Given the description of an element on the screen output the (x, y) to click on. 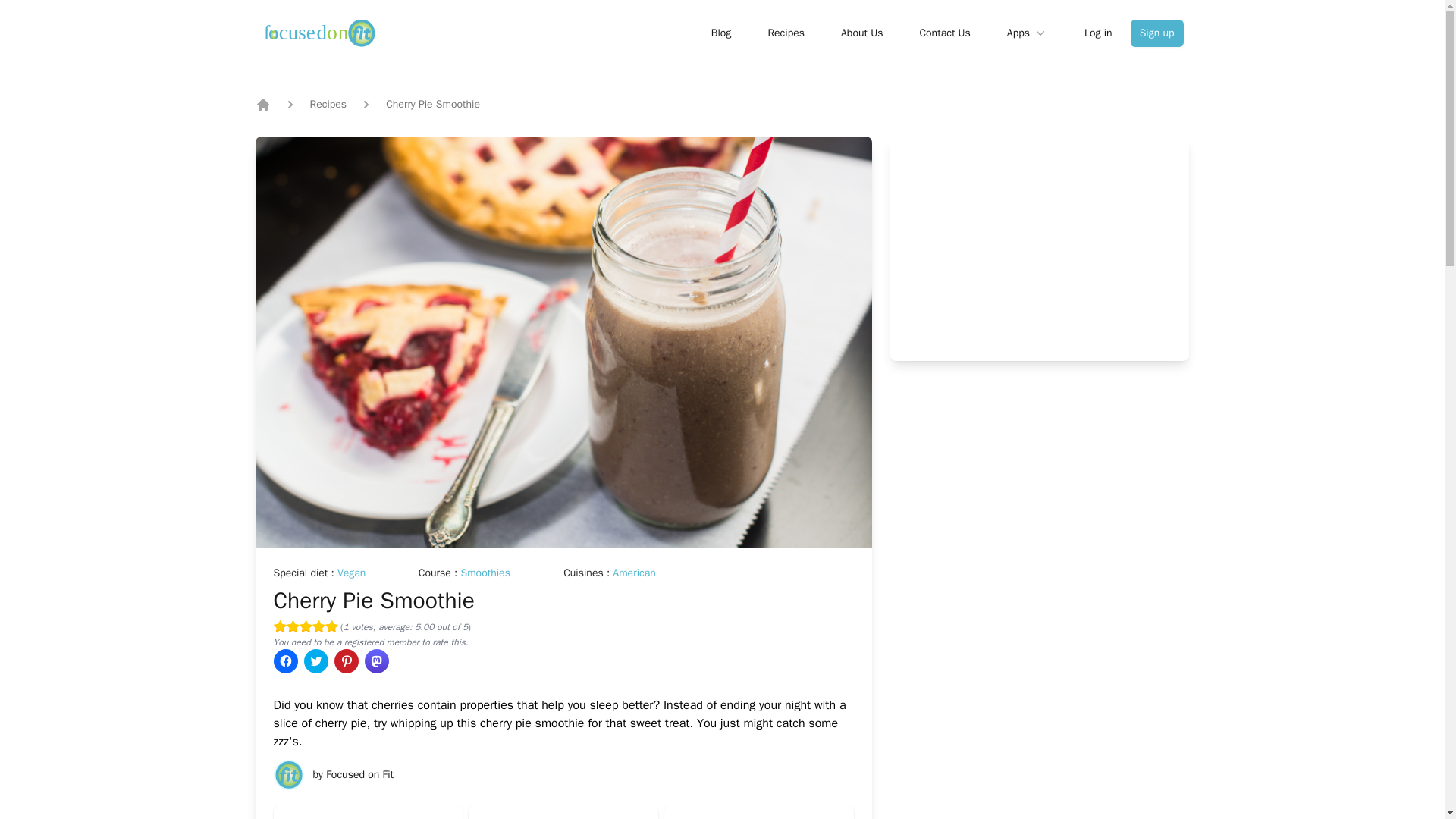
Click to share on Mastodon (376, 661)
Home (261, 104)
Contact Us (943, 33)
Click to share on Facebook (285, 661)
American (633, 572)
Focused on Fit (359, 774)
Recipes (327, 104)
Cherry Pie Smoothie (373, 600)
Smoothies (484, 572)
1 vote, average: 5.00 out of 5 (279, 625)
1 vote, average: 5.00 out of 5 (330, 625)
Recipes (786, 33)
Log in (1098, 33)
Advertisement (1039, 248)
Apps (1027, 33)
